Given the description of an element on the screen output the (x, y) to click on. 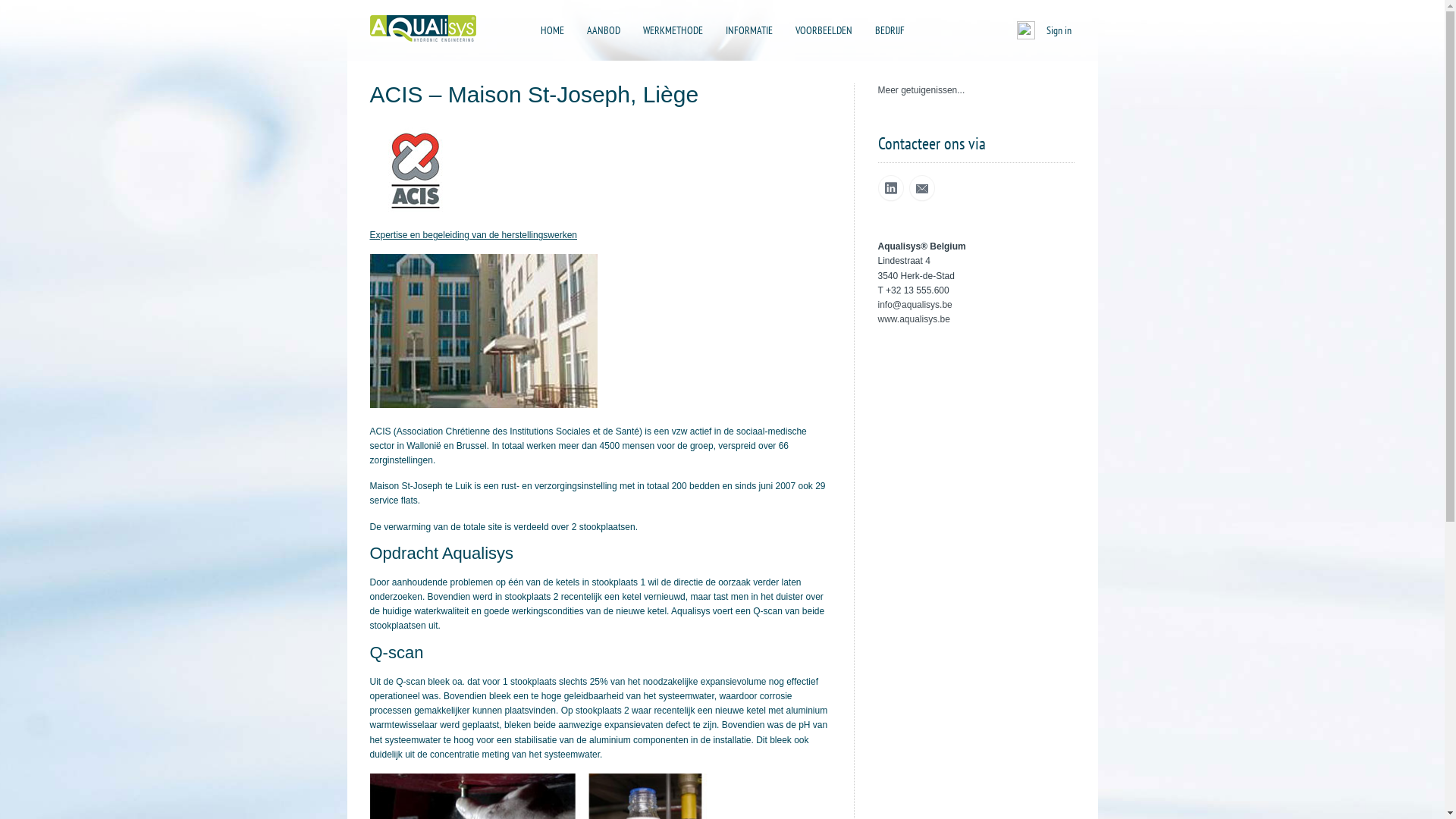
acis Element type: hover (483, 330)
info@aqualisys.be Element type: text (915, 304)
HOME Element type: text (551, 30)
Sign in Element type: text (1058, 30)
BEDRIJF Element type: text (889, 30)
VOORBEELDEN Element type: text (823, 30)
WERKMETHODE Element type: text (672, 30)
AANBOD Element type: text (603, 30)
www.aqualisys.be Element type: text (914, 318)
acis-logo Element type: hover (415, 166)
Email Element type: text (921, 188)
Meer getuigenissen... Element type: text (921, 89)
Linked In Element type: text (890, 188)
INFORMATIE Element type: text (748, 30)
